Given the description of an element on the screen output the (x, y) to click on. 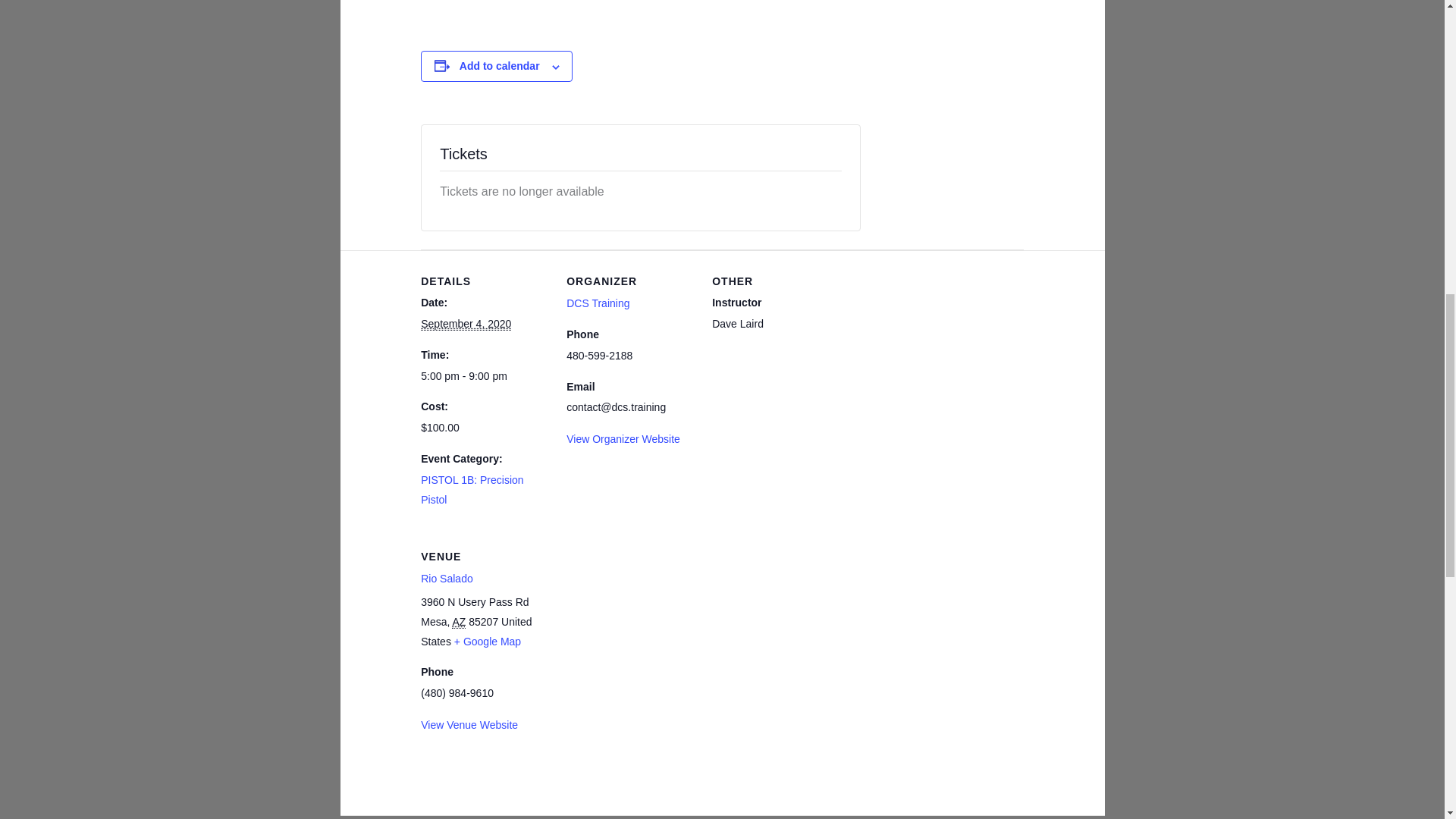
2020-09-04 (465, 323)
DCS Training (597, 303)
Rio Salado (446, 578)
PISTOL 1B: Precision Pistol (471, 490)
DCS Training (597, 303)
View Venue Website (469, 725)
View Organizer Website (622, 439)
2020-09-04 (484, 376)
Add to calendar (500, 65)
Arizona (458, 621)
Click to view a Google Map (487, 641)
Google maps iframe displaying the address to Rio Salado (646, 629)
